Given the description of an element on the screen output the (x, y) to click on. 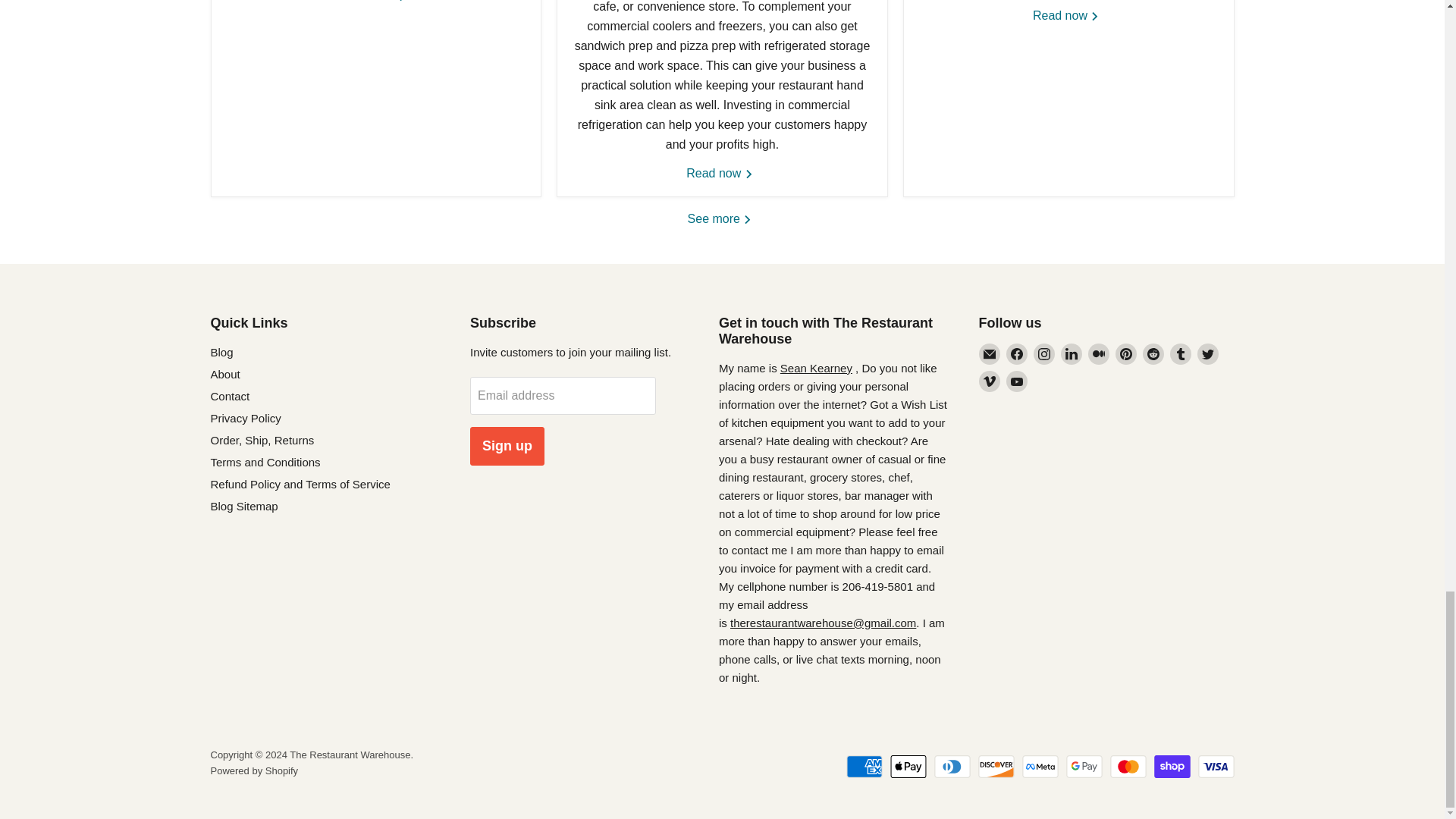
The Restaurant Warehouse (822, 622)
Tumblr (1180, 353)
Reddit (1152, 353)
Vimeo (988, 381)
Email (988, 353)
YouTube (1016, 381)
LinkedIn (1070, 353)
Medium (1097, 353)
Instagram (1043, 353)
Facebook (1016, 353)
